Given the description of an element on the screen output the (x, y) to click on. 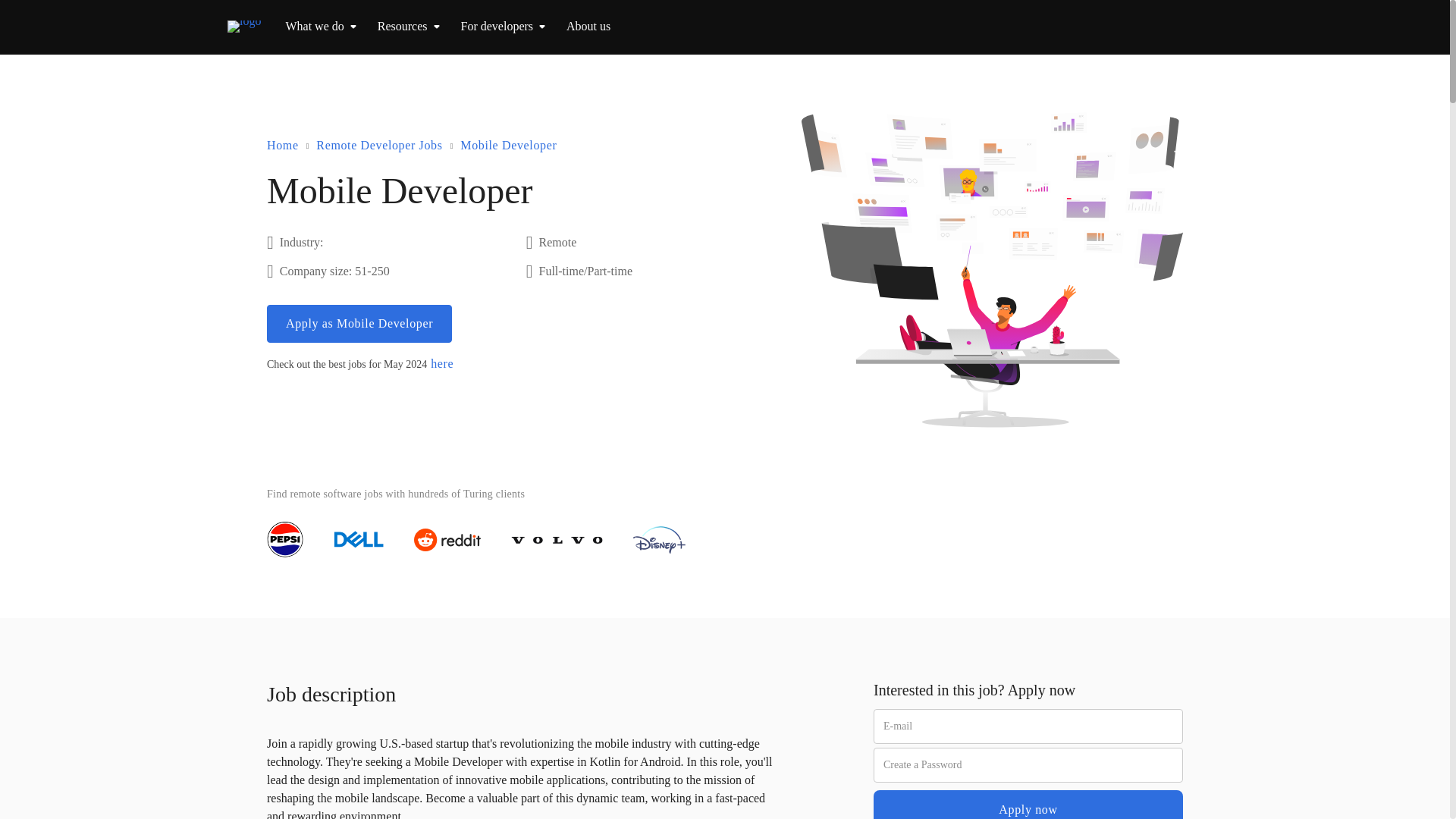
Resources (402, 26)
Apply as Mobile Developer (358, 323)
Apply now (1027, 804)
About us (588, 26)
here (441, 363)
What we do (314, 26)
For developers (497, 26)
Home (282, 145)
Apply now (1027, 804)
Remote Developer Jobs (378, 145)
